Given the description of an element on the screen output the (x, y) to click on. 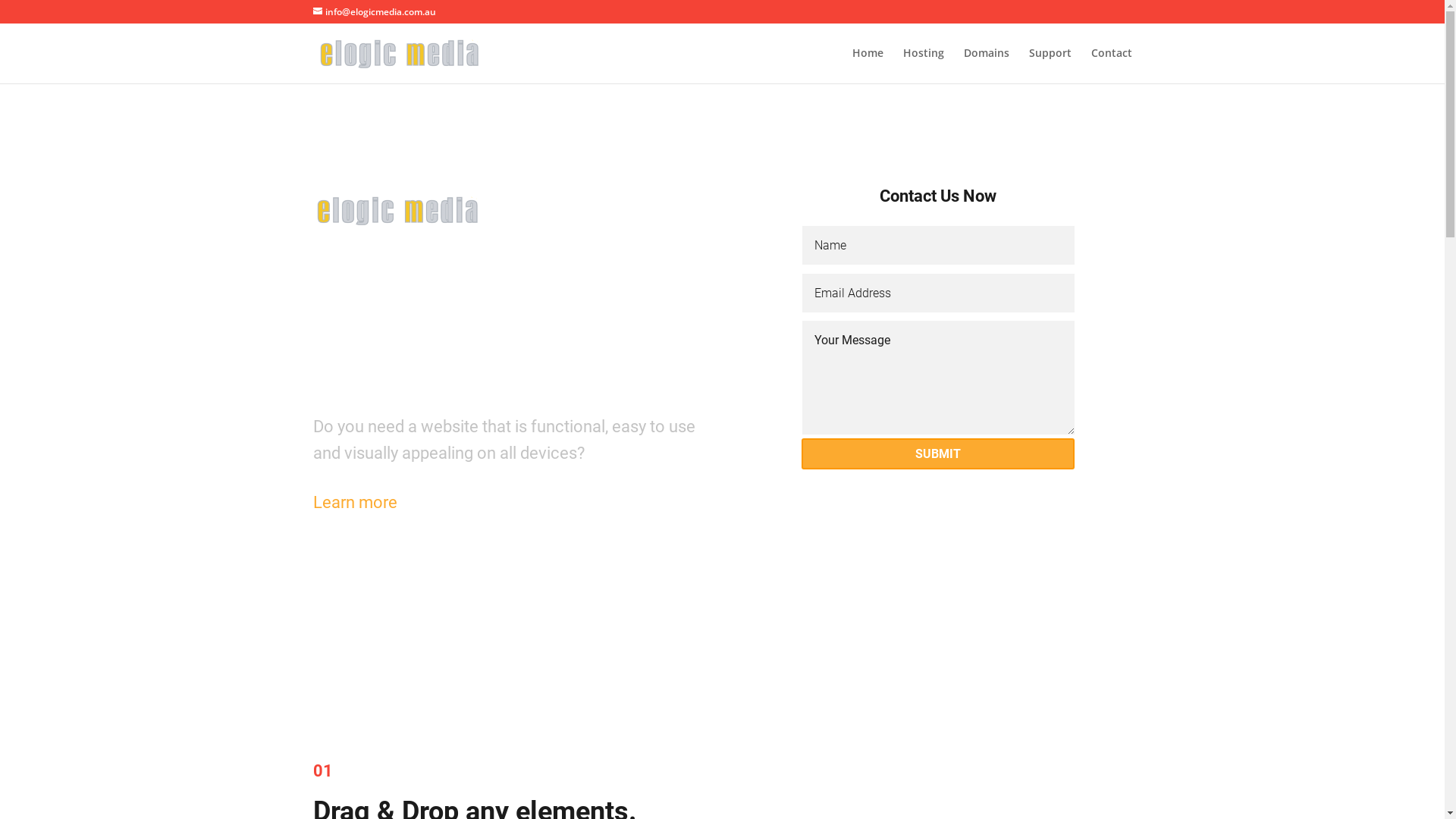
Contact Element type: text (1110, 65)
Domains Element type: text (985, 65)
info@elogicmedia.com.au Element type: text (373, 11)
Hosting Element type: text (922, 65)
SUBMIT Element type: text (937, 453)
Learn more Element type: text (354, 501)
Support Element type: text (1049, 65)
Home Element type: text (867, 65)
